Given the description of an element on the screen output the (x, y) to click on. 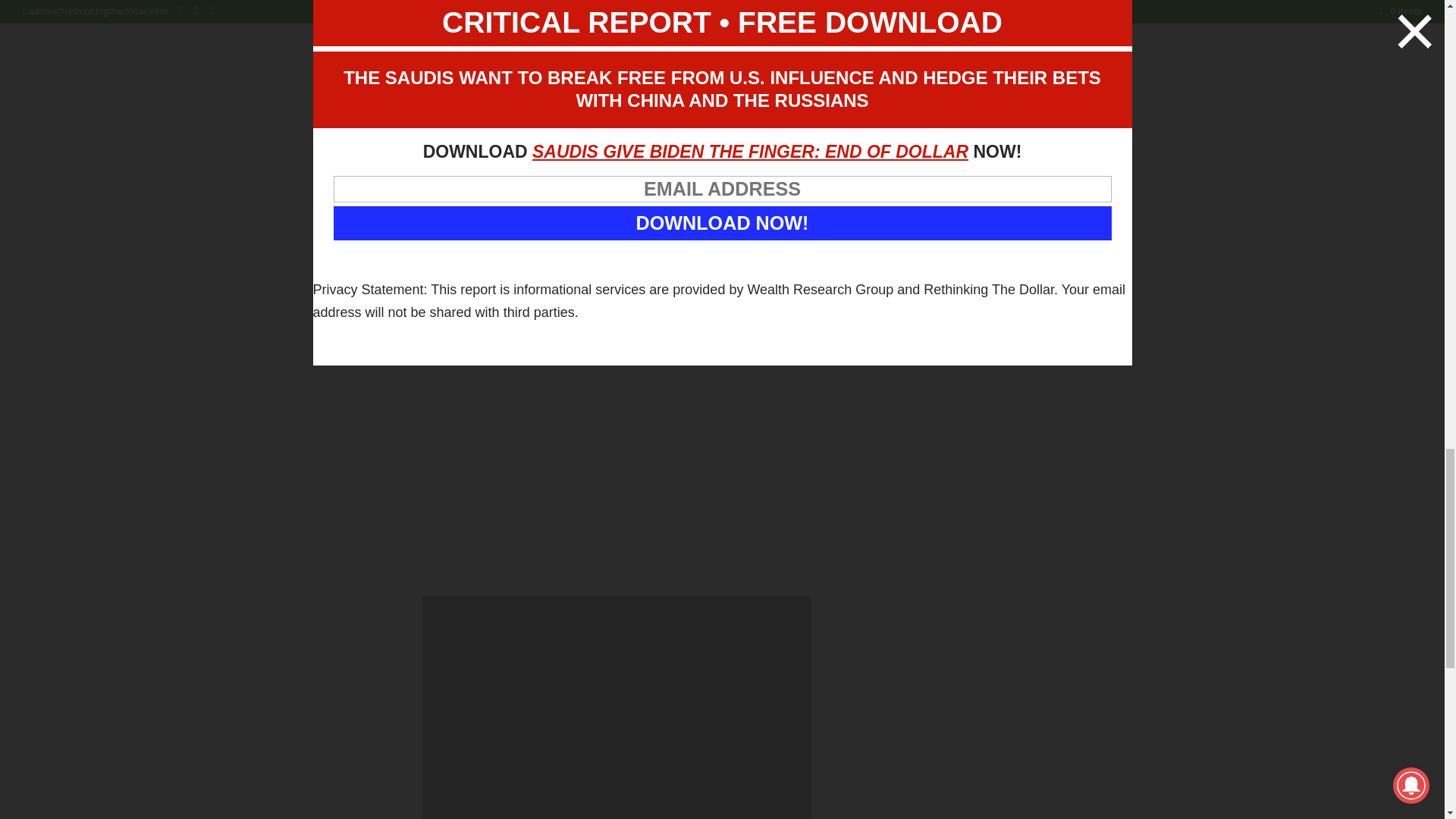
Subscribe (997, 347)
Subscribe (997, 347)
